Given the description of an element on the screen output the (x, y) to click on. 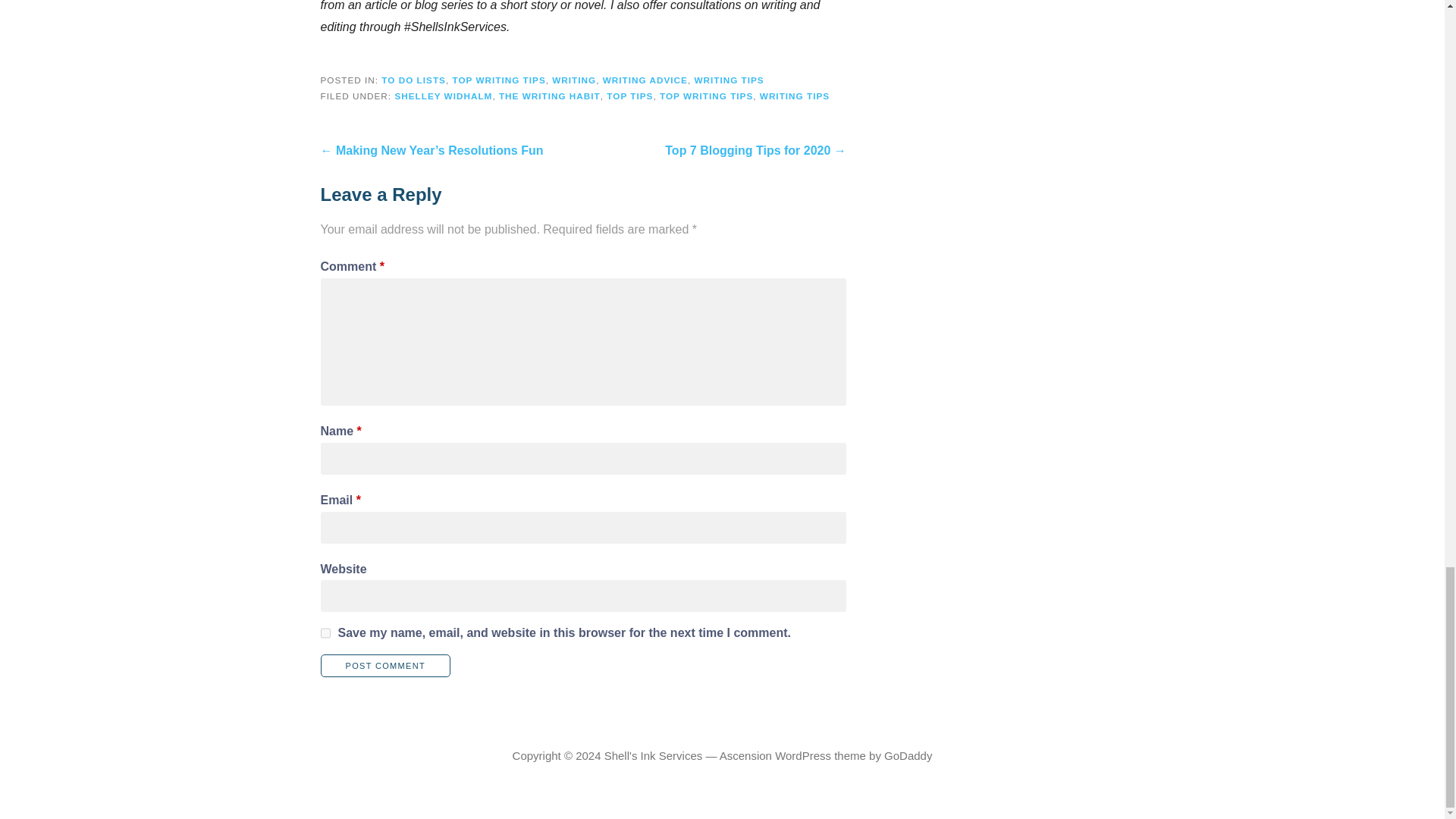
Post Comment (384, 665)
TOP WRITING TIPS (705, 95)
WRITING TIPS (794, 95)
WRITING ADVICE (644, 80)
TO DO LISTS (413, 80)
THE WRITING HABIT (549, 95)
TOP WRITING TIPS (497, 80)
SHELLEY WIDHALM (443, 95)
Post Comment (384, 665)
WRITING TIPS (728, 80)
TOP TIPS (629, 95)
WRITING (573, 80)
